Given the description of an element on the screen output the (x, y) to click on. 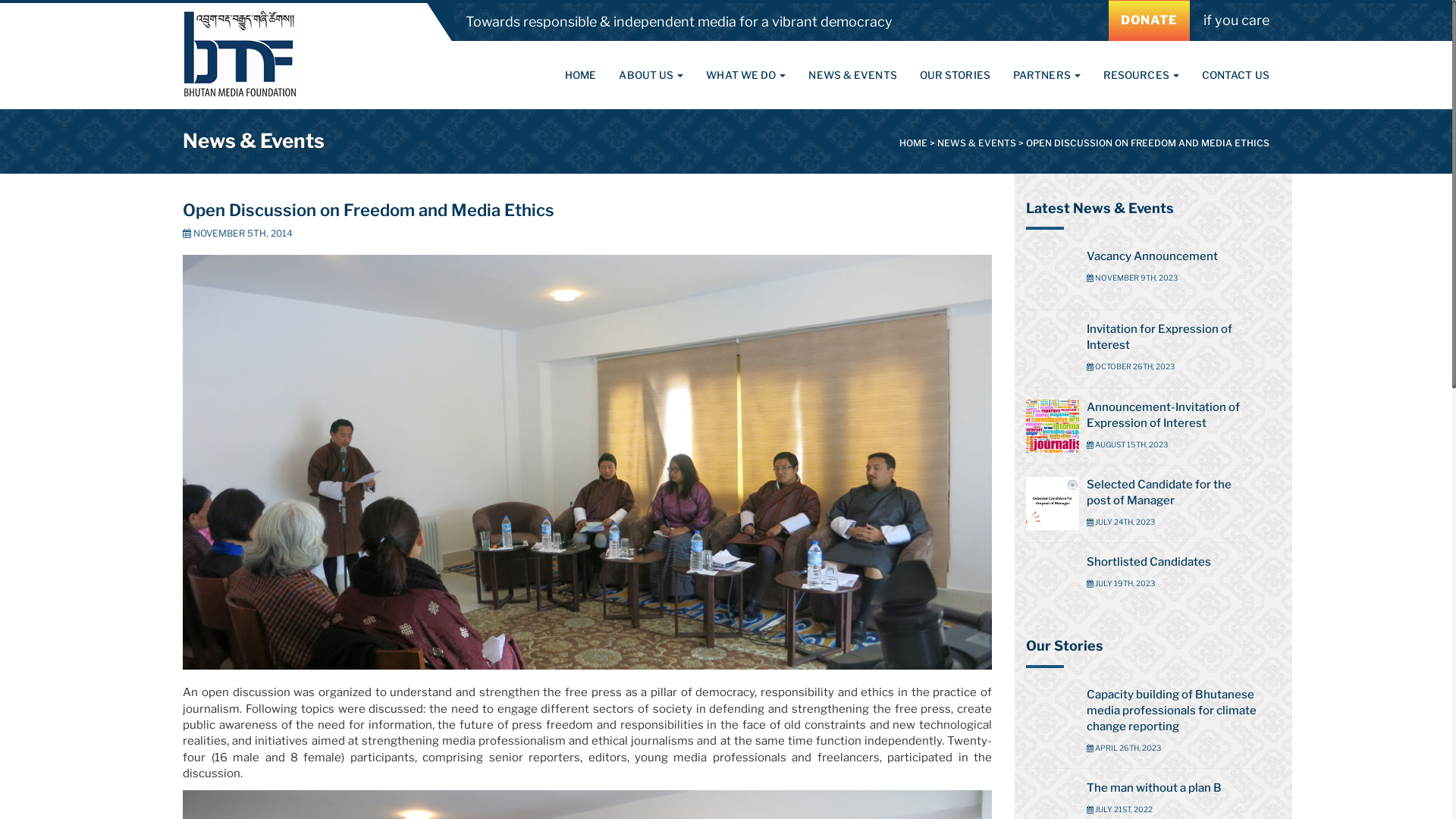
CONTACT US Element type: text (1229, 75)
HOME Element type: text (913, 142)
ABOUT US Element type: text (650, 75)
The man without a plan B Element type: text (1153, 787)
Selected Candidate for the post of Manager Element type: text (1158, 492)
HOME Element type: text (580, 75)
OUR STORIES Element type: text (954, 75)
PARTNERS Element type: text (1046, 75)
NEWS & EVENTS Element type: text (976, 142)
RESOURCES Element type: text (1141, 75)
NEWS & EVENTS Element type: text (852, 75)
Vacancy Announcement Element type: text (1151, 256)
Shortlisted Candidates Element type: text (1148, 561)
Invitation for Expression of Interest Element type: text (1159, 336)
WHAT WE DO Element type: text (745, 75)
Announcement-Invitation of Expression of Interest Element type: text (1162, 414)
DONATE Element type: text (1148, 20)
